Given the description of an element on the screen output the (x, y) to click on. 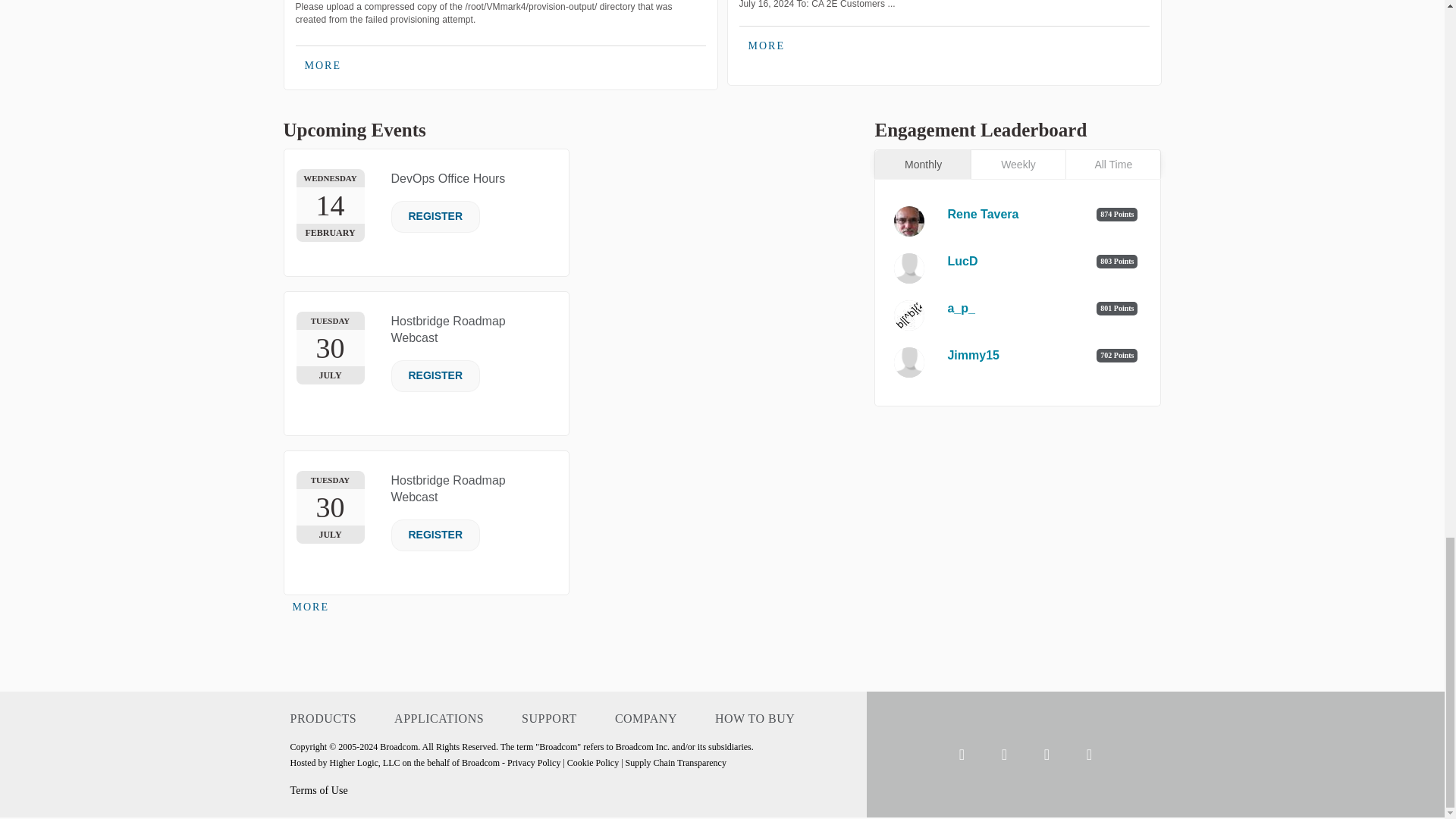
More (310, 607)
DevOps Office  Hours (448, 178)
Hostbridge Roadmap Webcast (448, 328)
View All Blog Posts (765, 46)
Hostbridge Roadmap Webcast (448, 488)
More (322, 65)
